Given the description of an element on the screen output the (x, y) to click on. 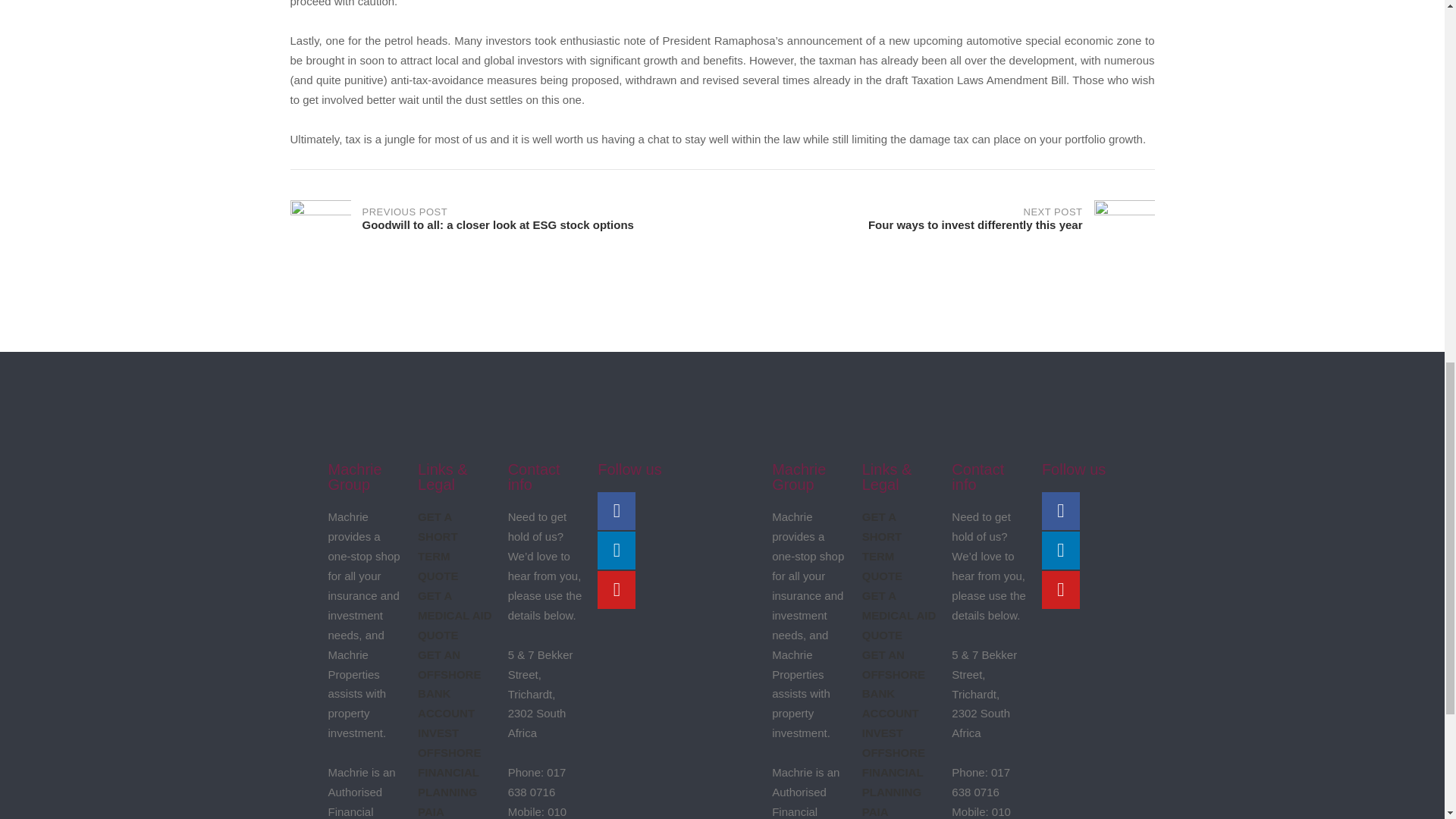
GET A MEDICAL AID QUOTE (898, 614)
FINANCIAL PLANNING (892, 781)
GET A MEDICAL AID QUOTE (454, 614)
PAIA MANUAL (938, 230)
INVEST OFFSHORE (442, 812)
INVEST OFFSHORE (892, 742)
FINANCIAL PLANNING (448, 742)
PAIA MANUAL (448, 781)
